Given the description of an element on the screen output the (x, y) to click on. 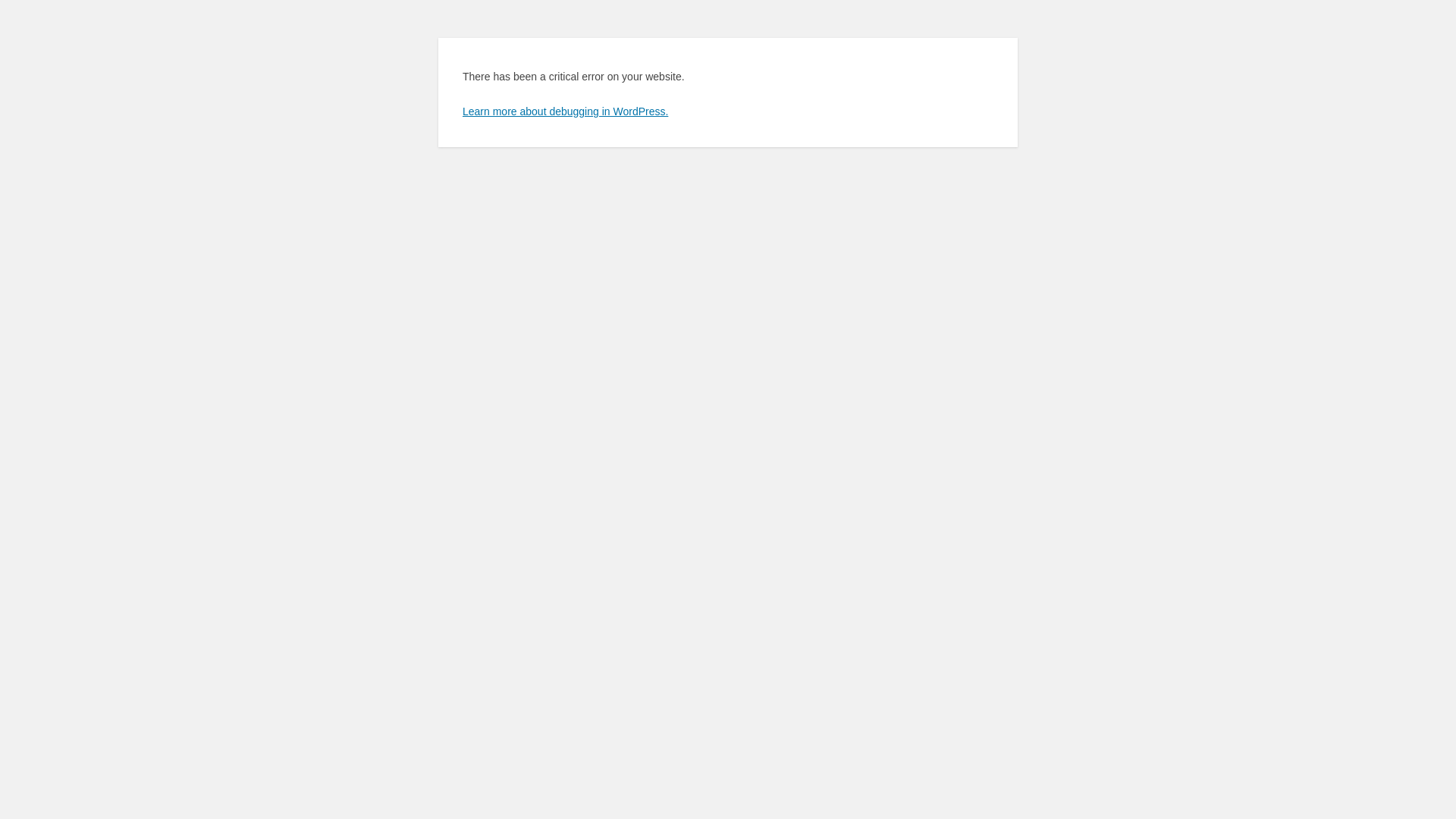
Learn more about debugging in WordPress. Element type: text (565, 111)
